Given the description of an element on the screen output the (x, y) to click on. 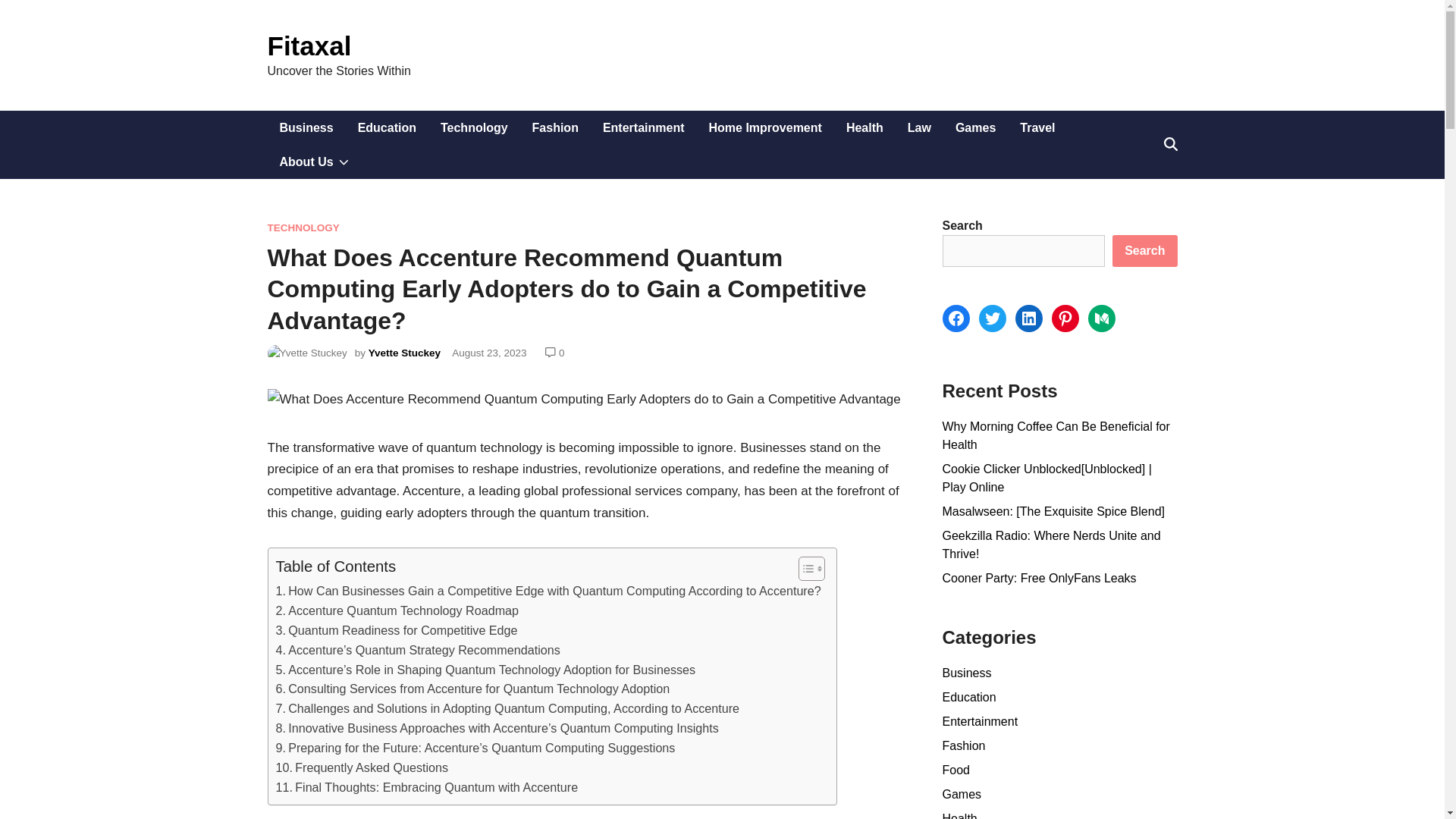
Final Thoughts: Embracing Quantum with Accenture (427, 787)
Technology (473, 127)
Travel (1037, 127)
Accenture Quantum Technology Roadmap (397, 610)
Fitaxal (308, 45)
TECHNOLOGY (302, 227)
Accenture Quantum Technology Roadmap (397, 610)
August 23, 2023 (488, 352)
Education (387, 127)
Health (864, 127)
Frequently Asked Questions (362, 768)
Final Thoughts: Embracing Quantum with Accenture (427, 787)
Frequently Asked Questions (362, 768)
